Given the description of an element on the screen output the (x, y) to click on. 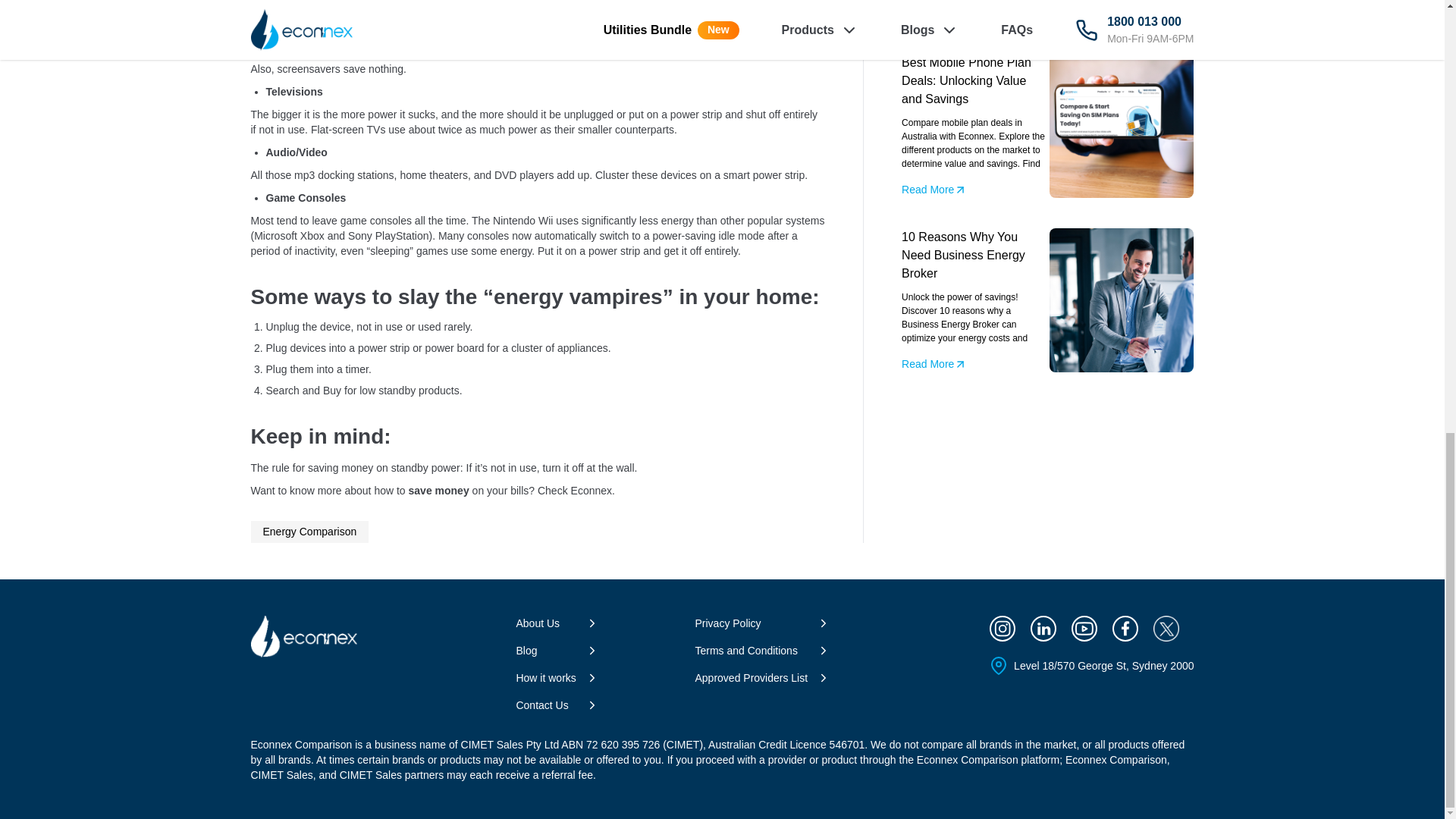
Approved Providers List (755, 677)
Contact Us (545, 704)
Terms and Conditions (750, 650)
About Us (542, 622)
Read More (933, 189)
How it works (550, 677)
Privacy Policy (732, 622)
Read More (933, 364)
Blog (530, 650)
Read More (933, 15)
